Given the description of an element on the screen output the (x, y) to click on. 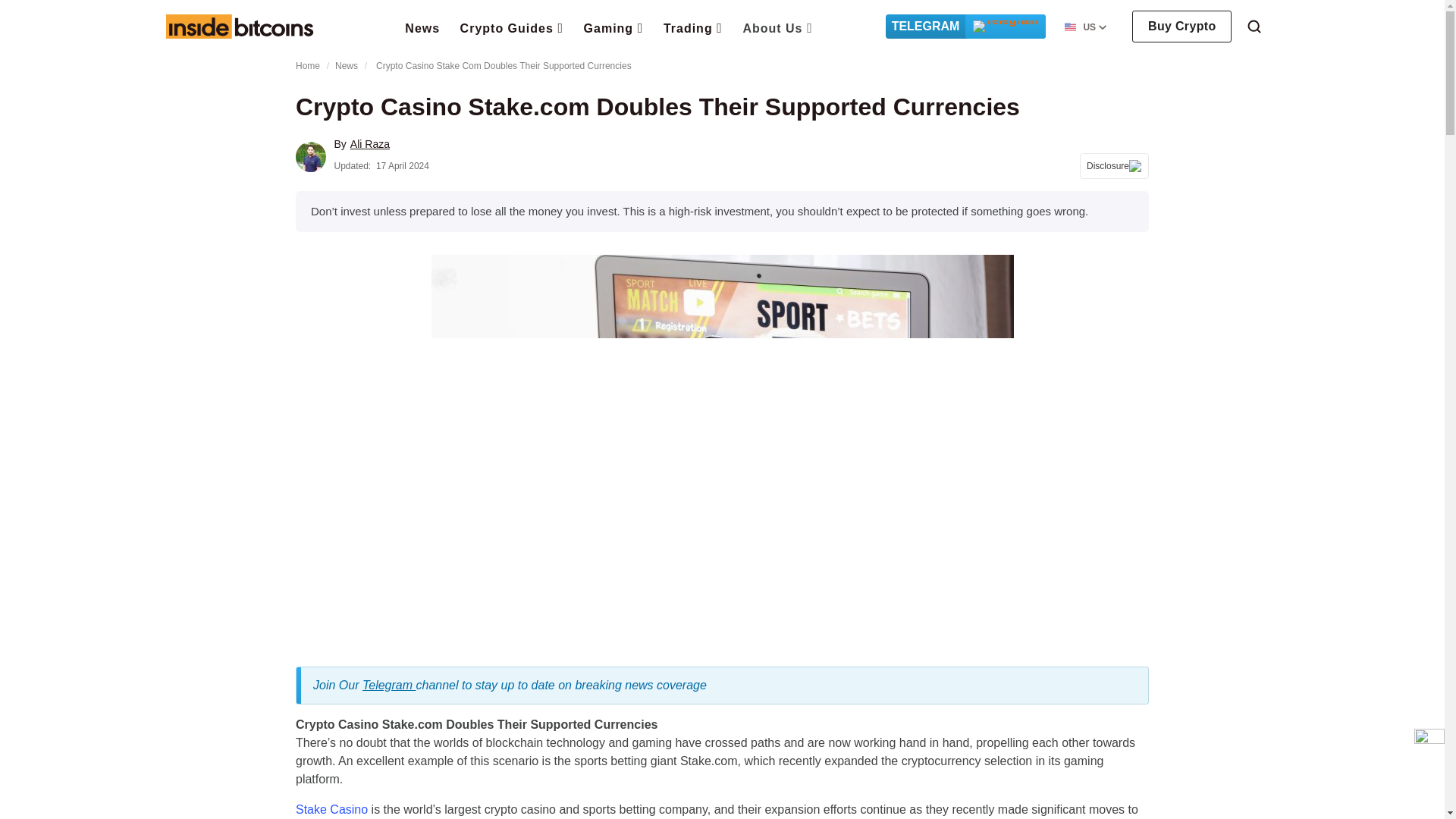
Crypto Guides (512, 26)
News (421, 26)
Home (239, 26)
